Given the description of an element on the screen output the (x, y) to click on. 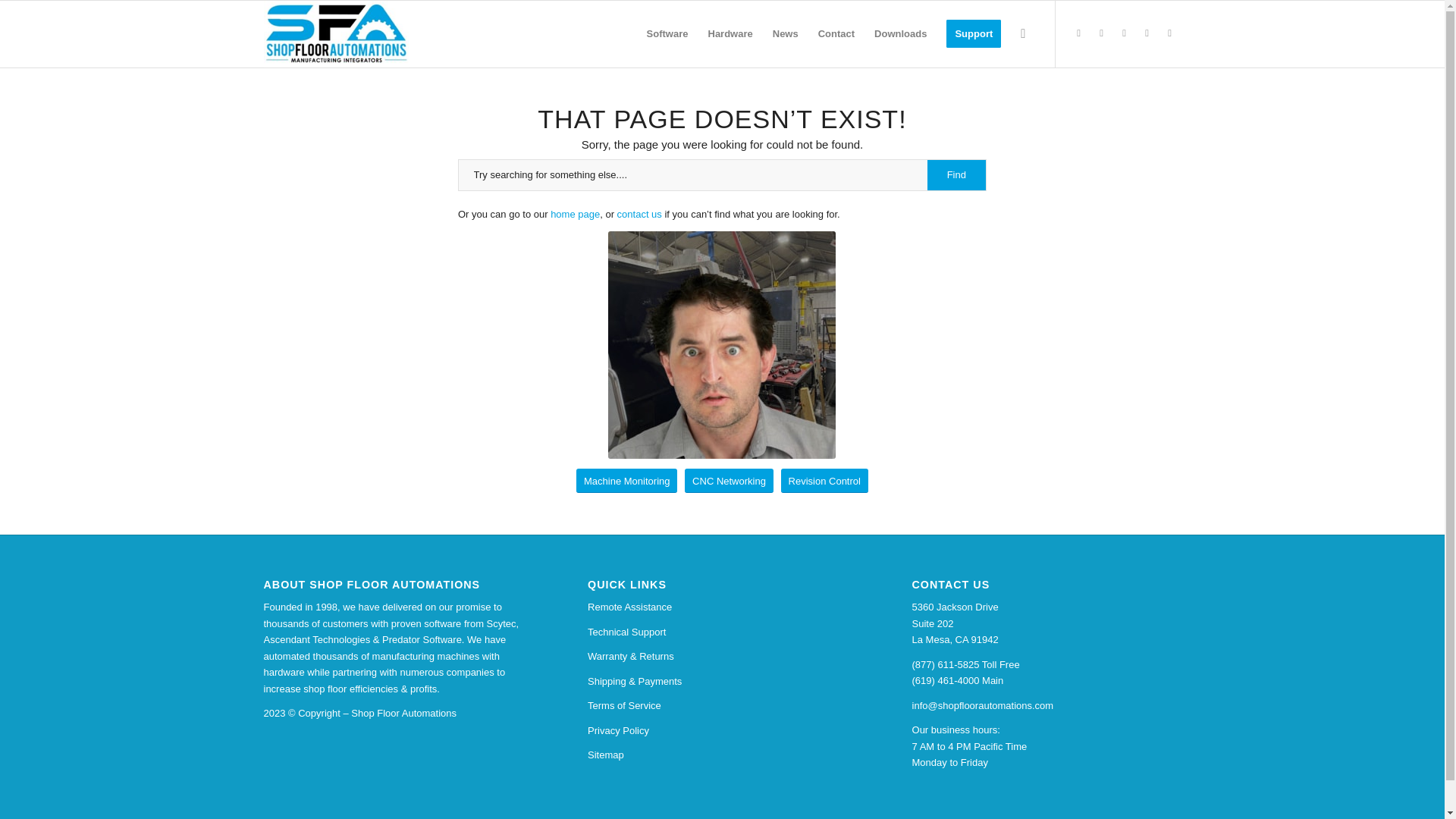
SFA-404-Guy (721, 344)
Twitter (1078, 33)
Instagram (1101, 33)
Support (973, 33)
Downloads (900, 33)
Find (956, 174)
Software (667, 33)
Youtube (1169, 33)
Facebook (1124, 33)
LinkedIn (1146, 33)
Hardware (729, 33)
